Given the description of an element on the screen output the (x, y) to click on. 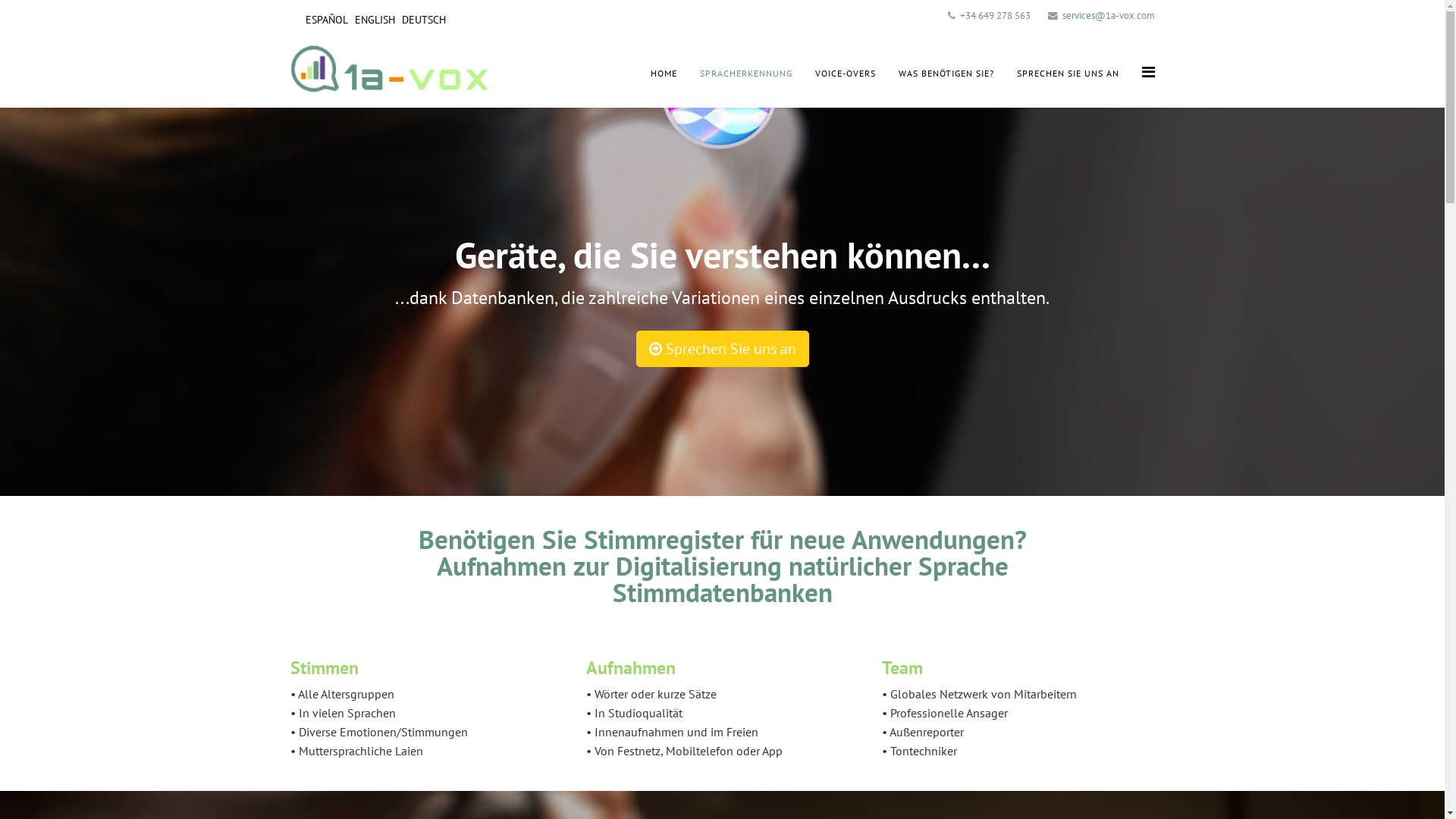
HOME Element type: text (662, 73)
SPRECHEN SIE UNS AN Element type: text (1067, 73)
SPRACHERKENNUNG Element type: text (745, 73)
services@1a-vox.com Element type: text (1107, 15)
Helix Megamenu Options Element type: hover (1148, 71)
VOICE-OVERS Element type: text (845, 73)
Sprechen Sie uns an Element type: text (721, 348)
DEUTSCH Element type: text (423, 19)
ENGLISH Element type: text (374, 19)
+34 649 278 563 Element type: text (995, 15)
